Given the description of an element on the screen output the (x, y) to click on. 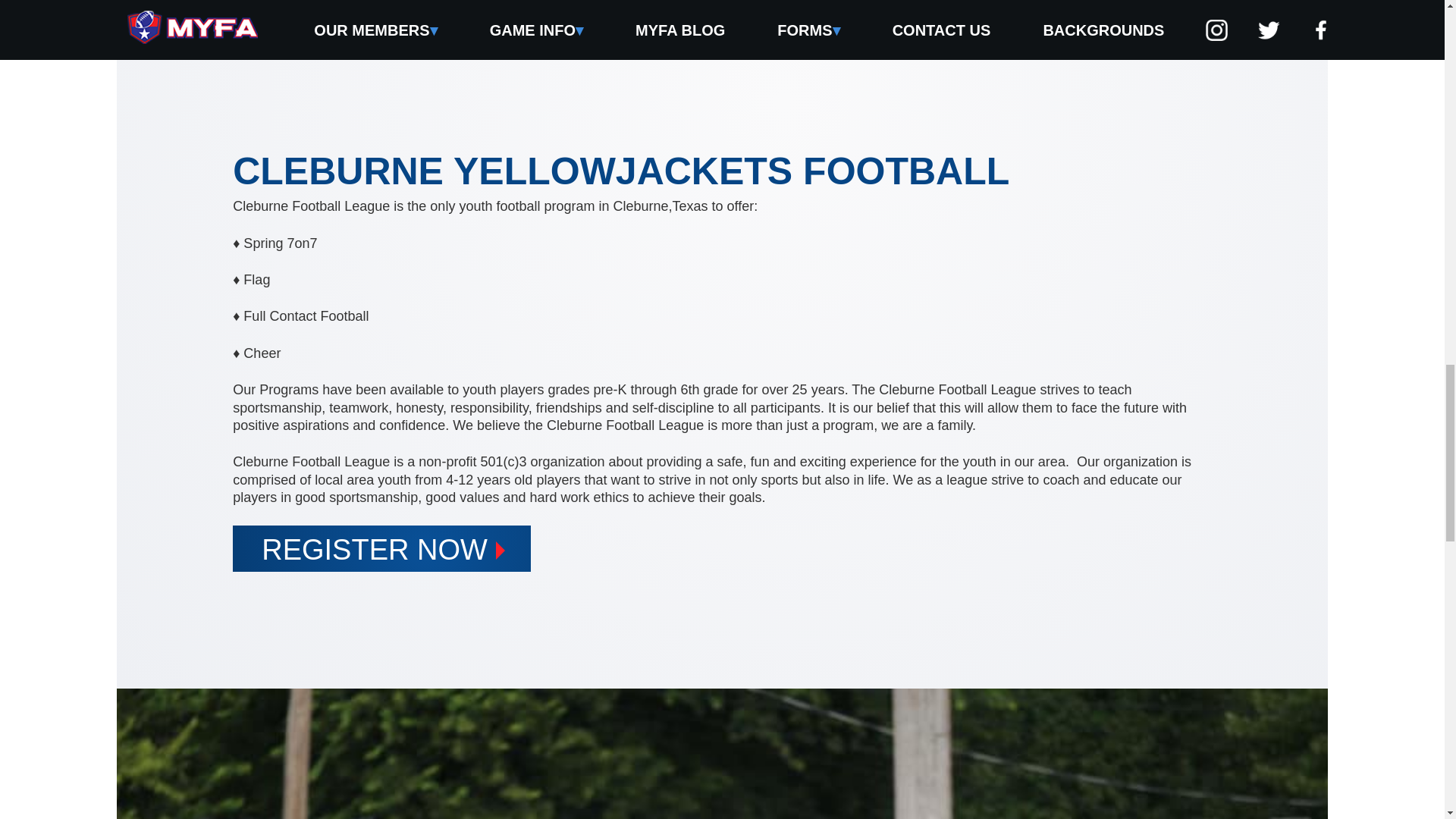
REGISTER NOW (381, 548)
